Given the description of an element on the screen output the (x, y) to click on. 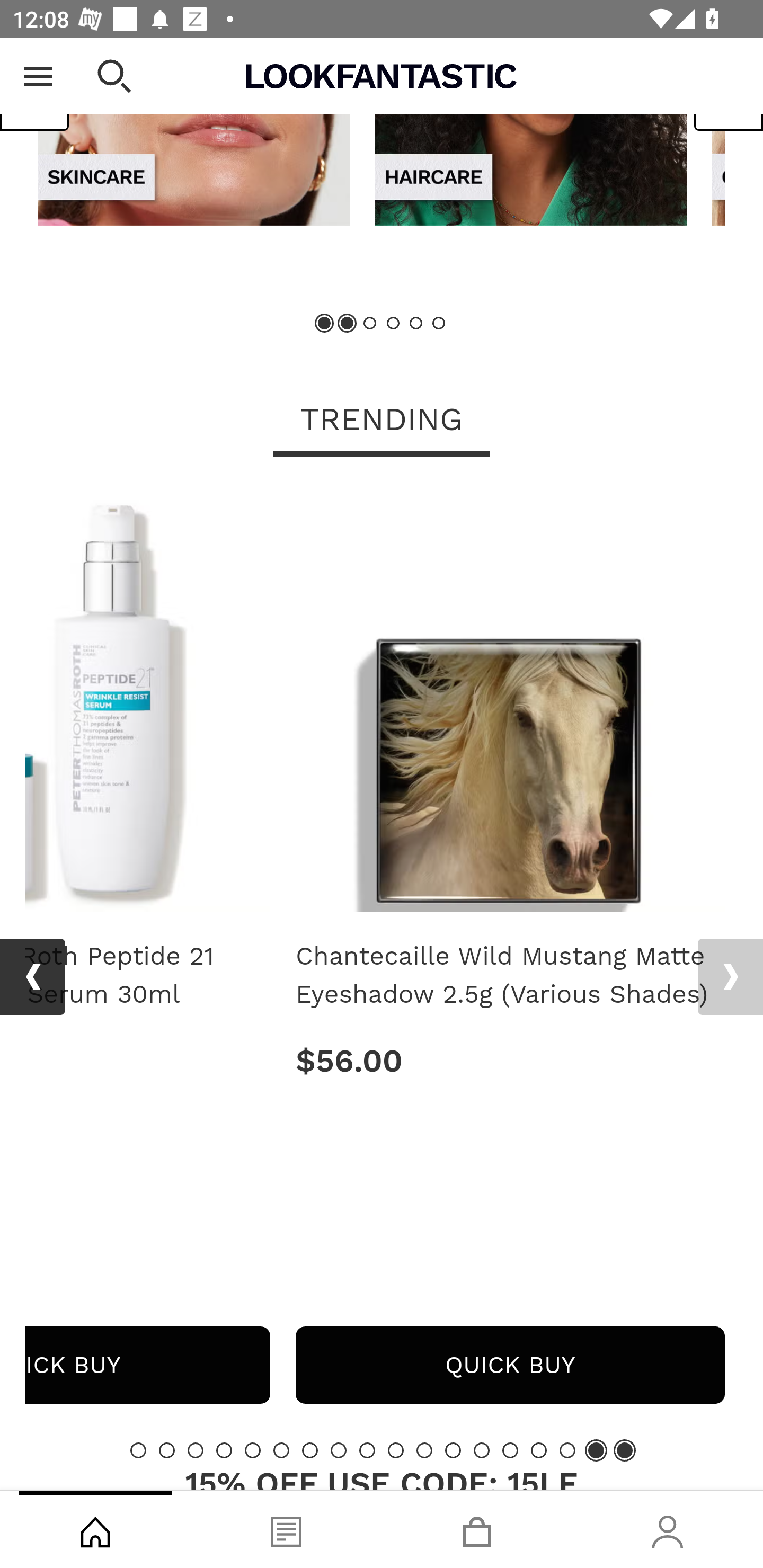
Previous (35, 90)
Showing Slide 1 (Current Item) (324, 323)
Showing Slide 2 (Current Item) (347, 323)
Slide 3 (369, 323)
Slide 4 (393, 323)
Slide 5 (415, 323)
Slide 6 (437, 323)
TRENDING (381, 420)
Previous (32, 976)
Next (730, 976)
Price: $56.00 (510, 1060)
Slide 1 (138, 1449)
Slide 2 (166, 1449)
Slide 3 (195, 1449)
Slide 4 (223, 1449)
Slide 5 (252, 1449)
Slide 6 (281, 1449)
Slide 7 (310, 1449)
Slide 8 (338, 1449)
Slide 9 (367, 1449)
Slide 10 (395, 1449)
Slide 11 (424, 1449)
Slide 12 (452, 1449)
Slide 13 (481, 1449)
Slide 14 (510, 1449)
Slide 15 (539, 1449)
Slide 16 (567, 1449)
Showing Slide 17 (Current Item) (596, 1449)
Showing Slide 18 (Current Item) (624, 1449)
Shop, tab, 1 of 4 (95, 1529)
Blog, tab, 2 of 4 (285, 1529)
Basket, tab, 3 of 4 (476, 1529)
Account, tab, 4 of 4 (667, 1529)
